Given the description of an element on the screen output the (x, y) to click on. 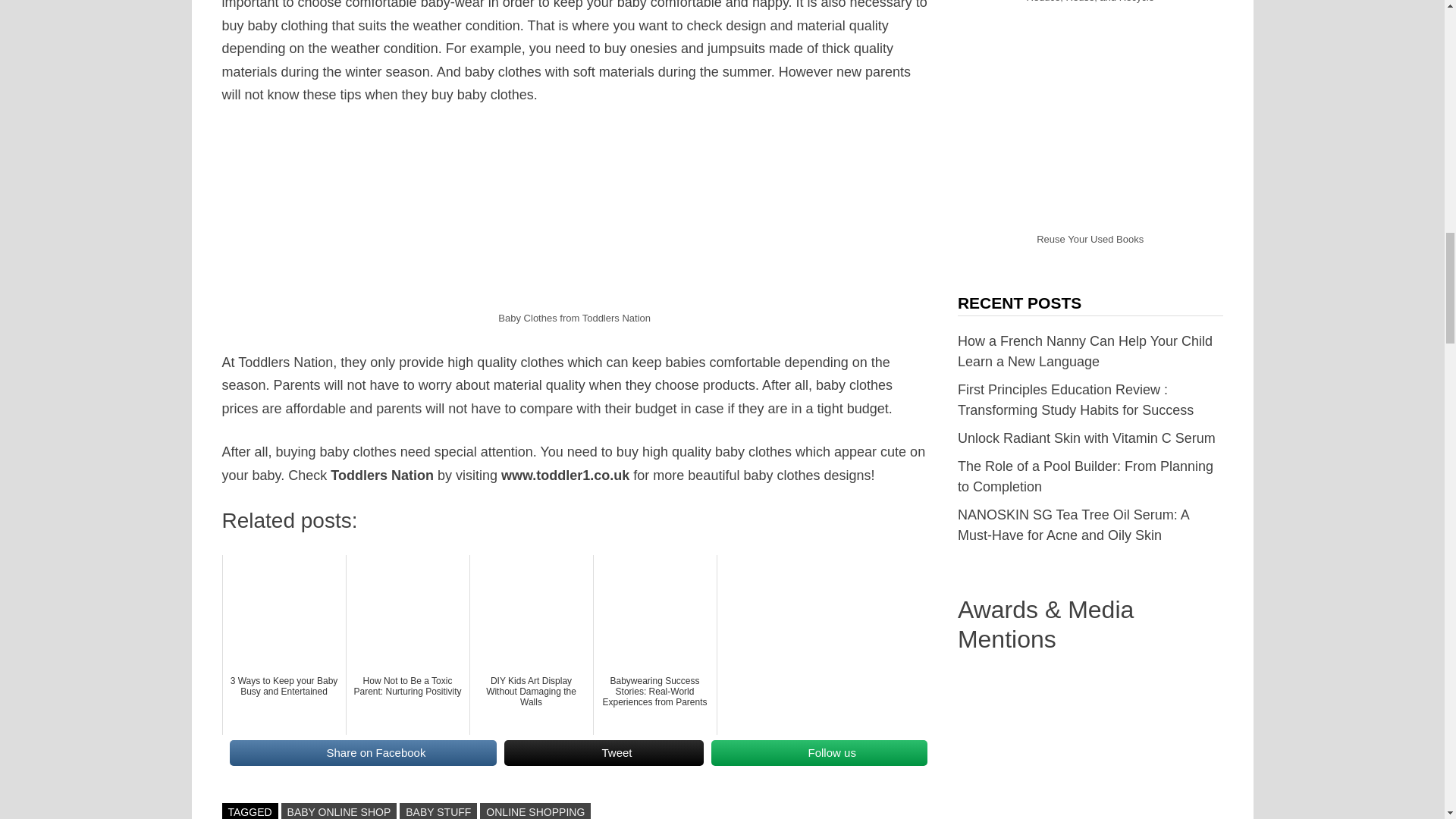
BABY STUFF (437, 811)
BABY ONLINE SHOP (339, 811)
Share on Facebook (362, 752)
ONLINE SHOPPING (535, 811)
Follow us (819, 752)
Tweet (603, 752)
